Given the description of an element on the screen output the (x, y) to click on. 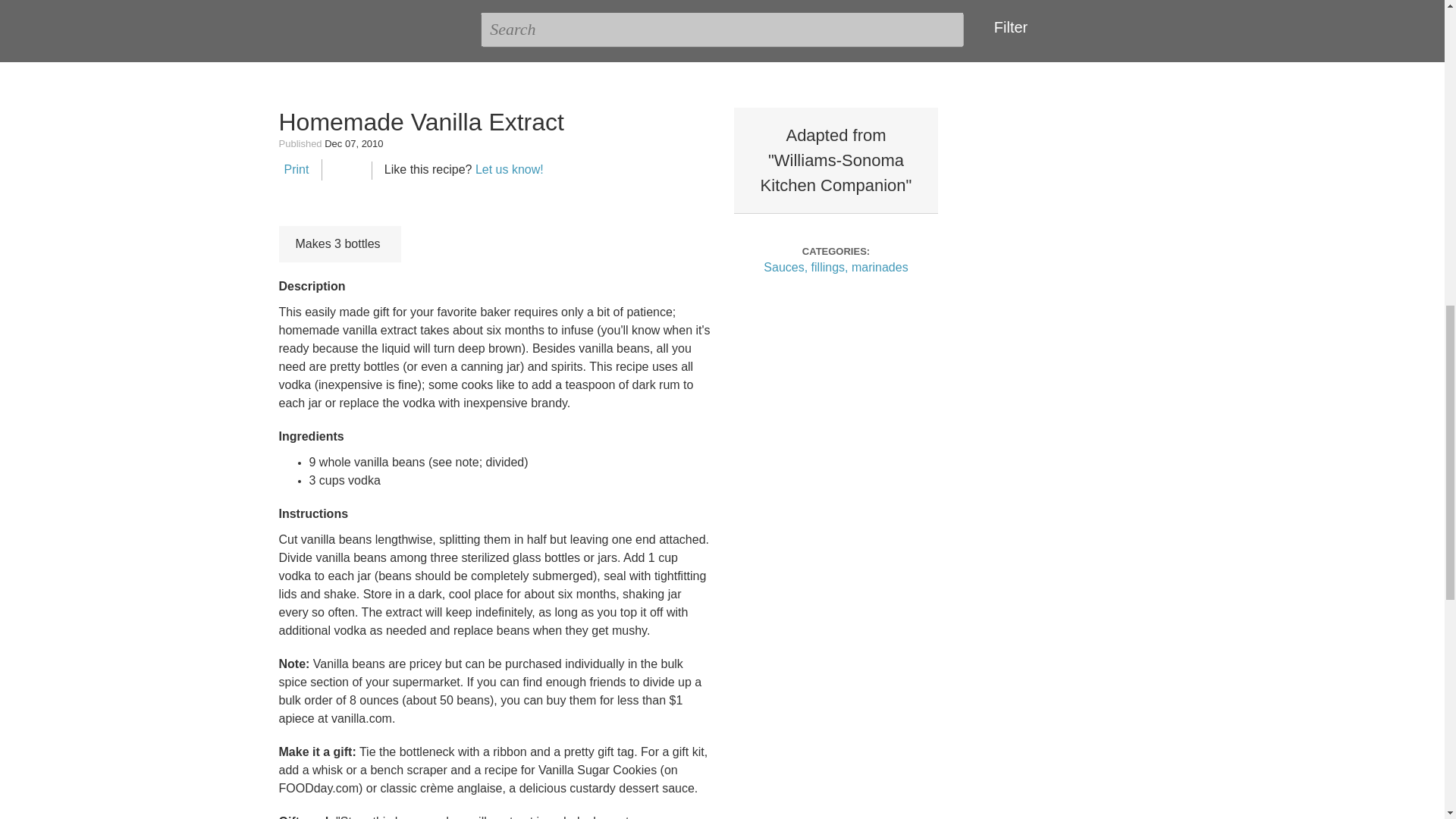
Print (294, 169)
Let us know! (509, 169)
Filter (1007, 27)
Sauces, fillings, marinades (834, 267)
